Given the description of an element on the screen output the (x, y) to click on. 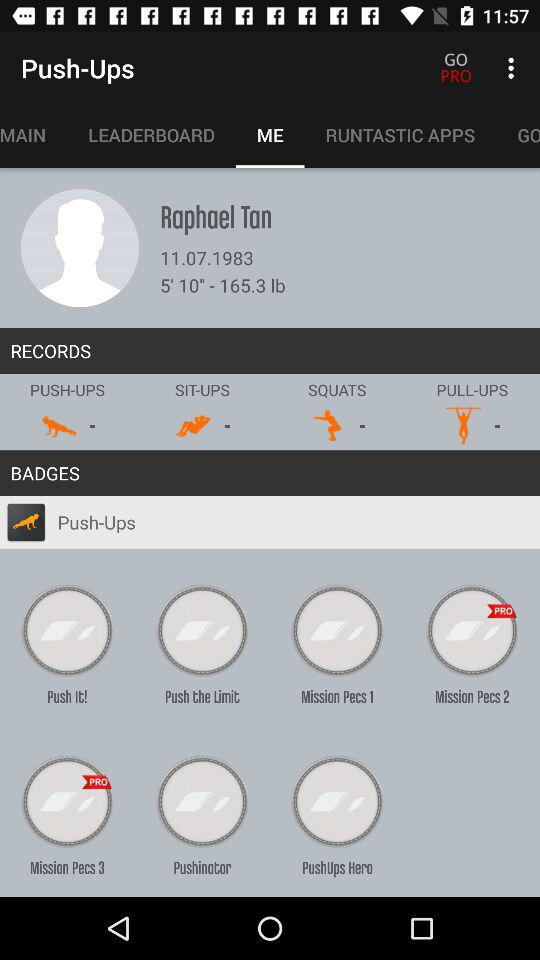
swipe to main icon (33, 135)
